Given the description of an element on the screen output the (x, y) to click on. 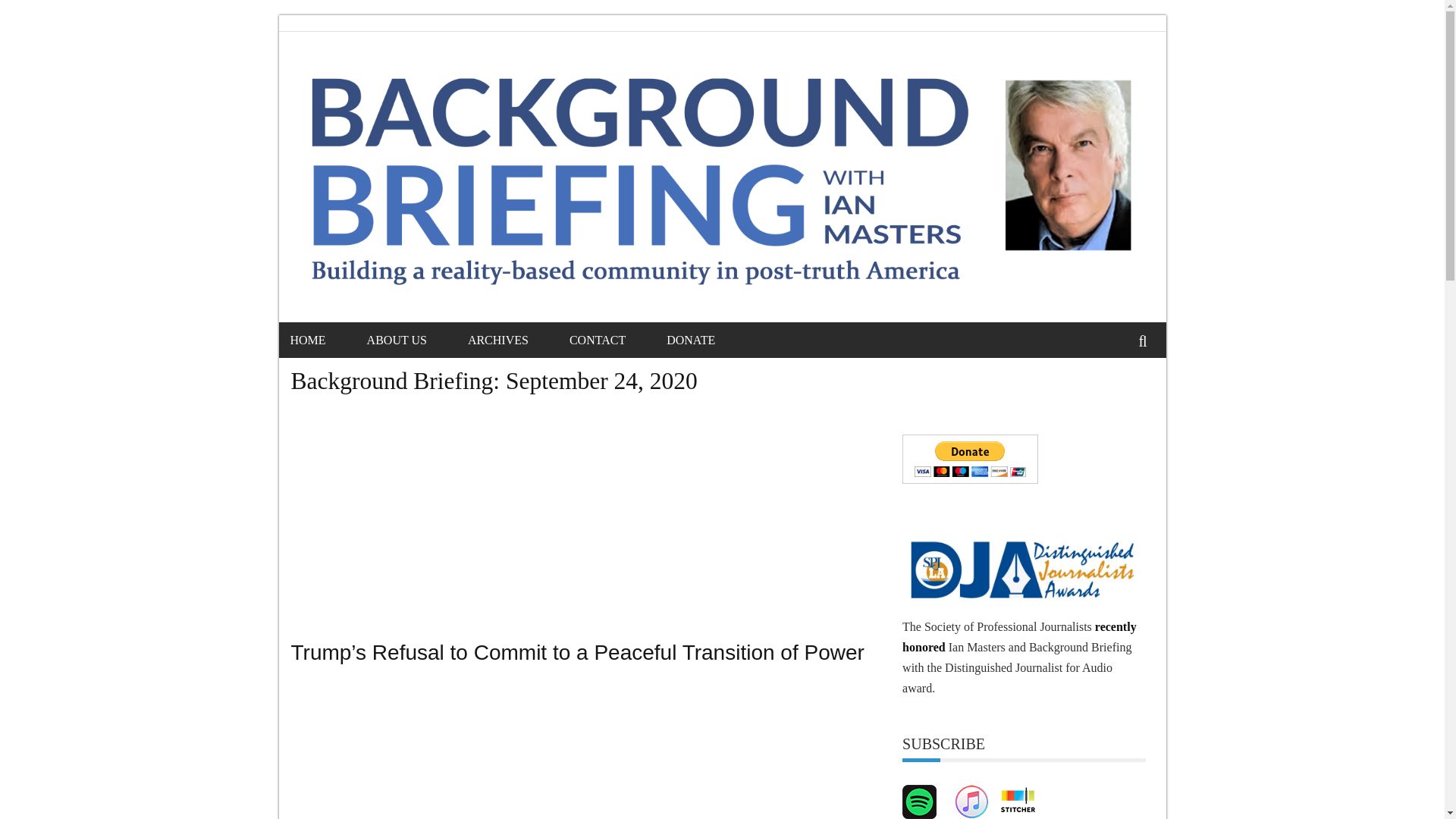
BACKGROUND BRIEFING (413, 101)
CONTACT (616, 339)
PayPal - The safer, easier way to pay online! (970, 459)
ARCHIVES (516, 339)
HOME (325, 339)
DONATE (709, 339)
ABOUT US (415, 339)
recently honored (1019, 636)
